Given the description of an element on the screen output the (x, y) to click on. 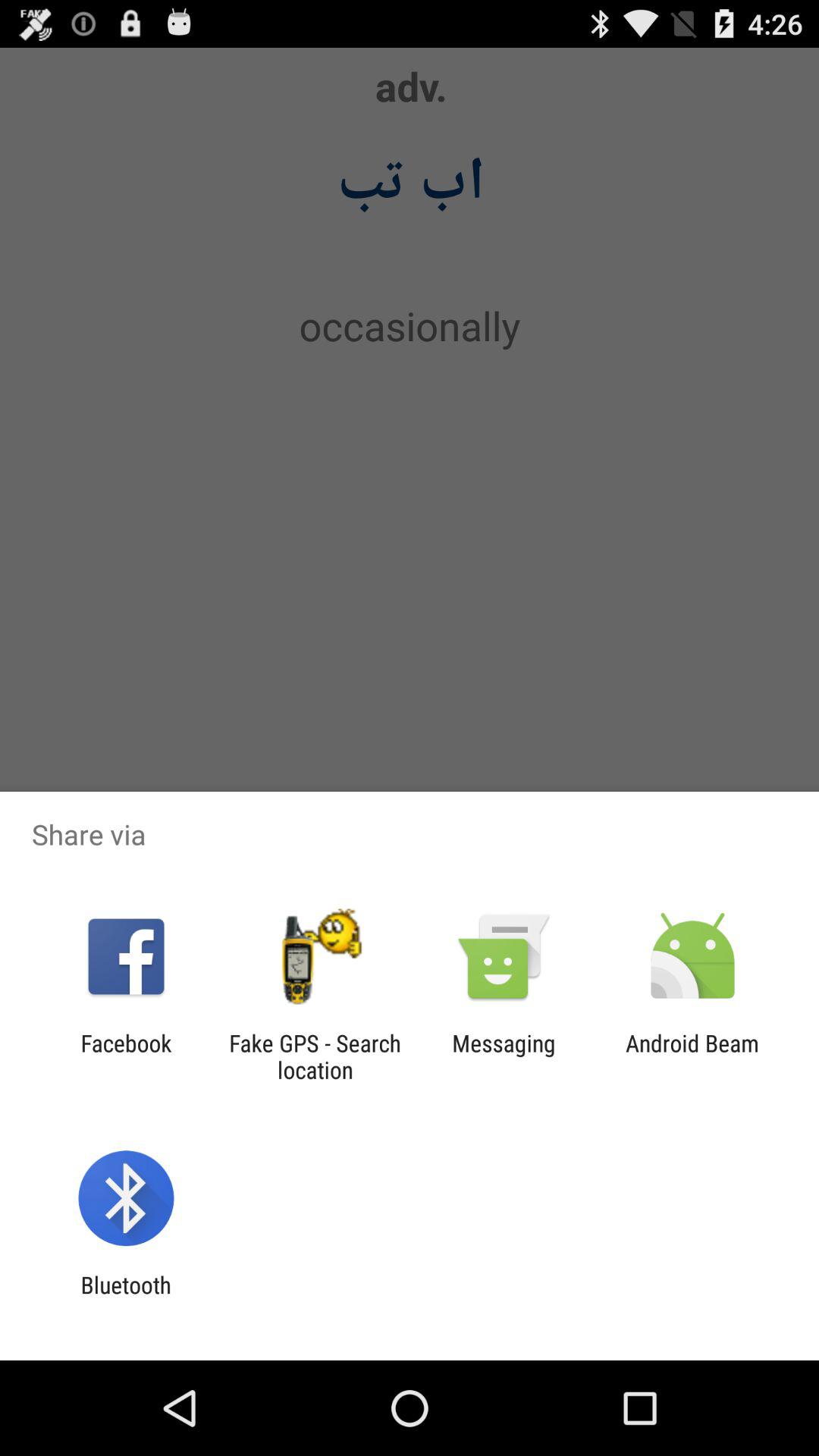
click the item next to messaging item (692, 1056)
